Given the description of an element on the screen output the (x, y) to click on. 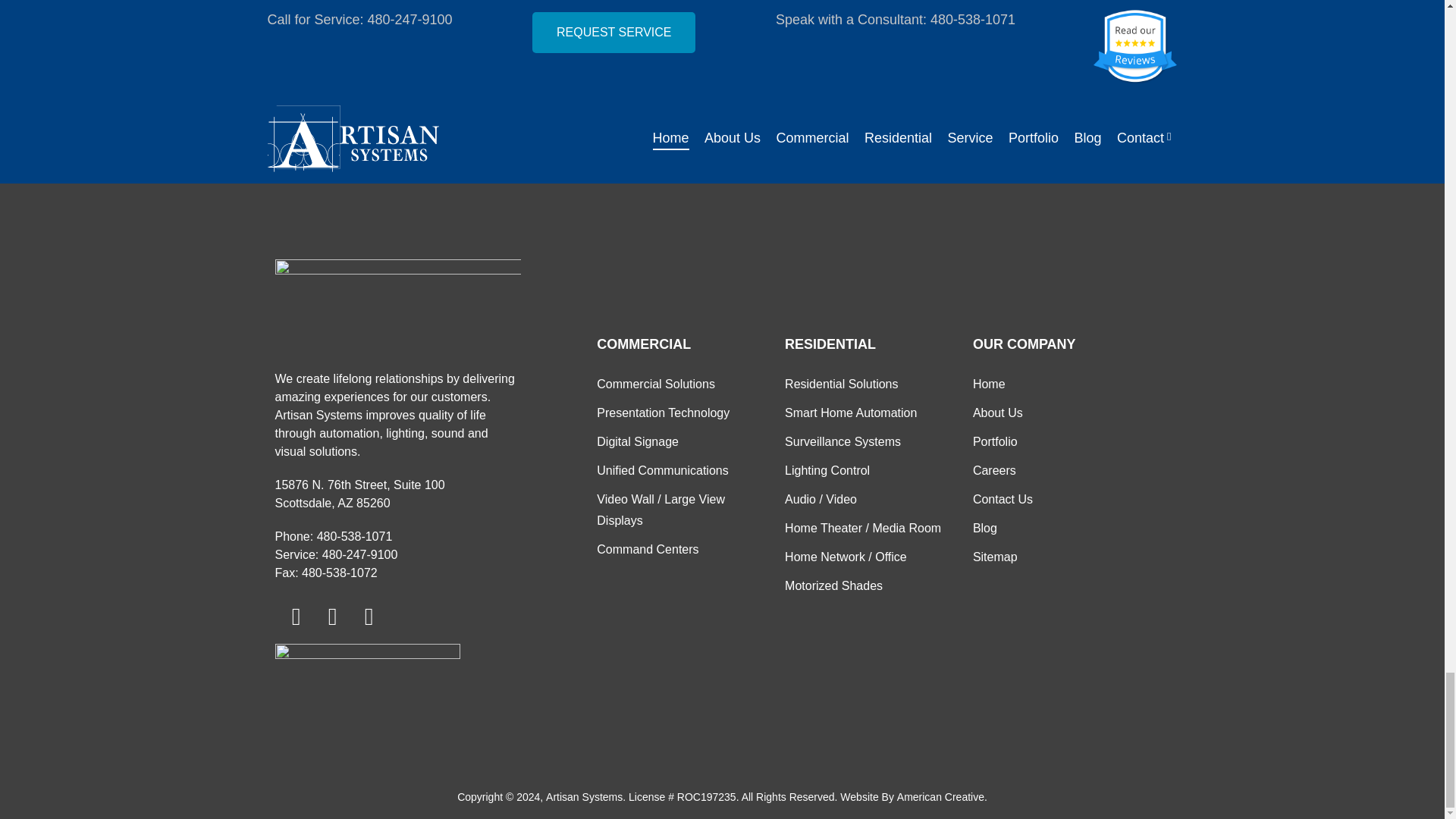
Smart Home Automation (850, 413)
Instagram (368, 616)
Commercial Solutions (655, 383)
Unified Communications (662, 470)
Facebook (296, 616)
Residential Solutions (841, 383)
Surveillance Systems (842, 441)
Digital Signage (637, 441)
480-538-1071 (355, 536)
Linkedin (332, 616)
Lighting Control (826, 470)
480-247-9100 (359, 555)
Command Centers (647, 549)
Presentation Technology (662, 413)
